Given the description of an element on the screen output the (x, y) to click on. 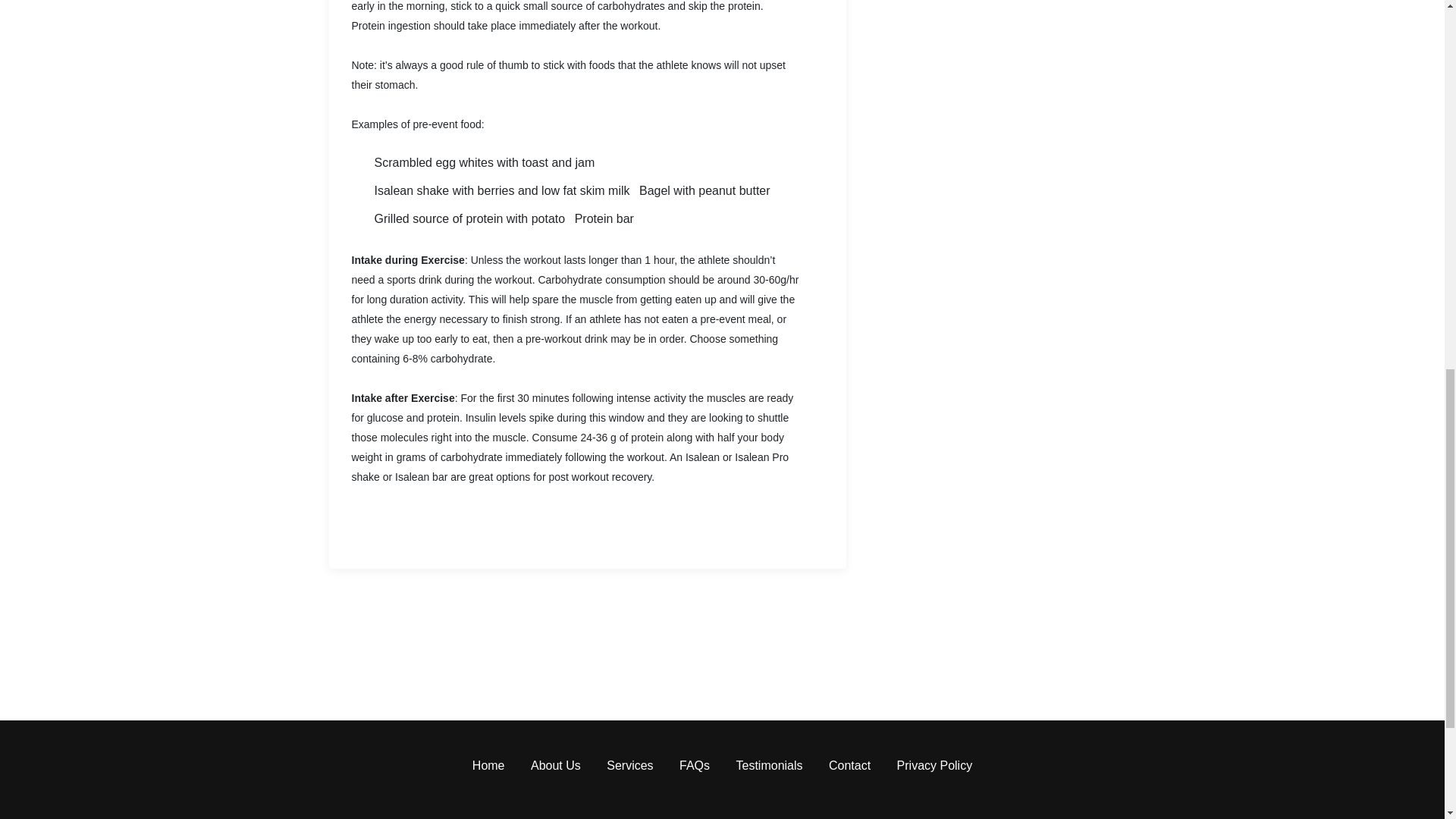
About Us (555, 765)
FAQs (694, 765)
Testimonials (769, 765)
Services (629, 765)
Privacy Policy (934, 765)
Contact (849, 765)
Home (488, 765)
